Given the description of an element on the screen output the (x, y) to click on. 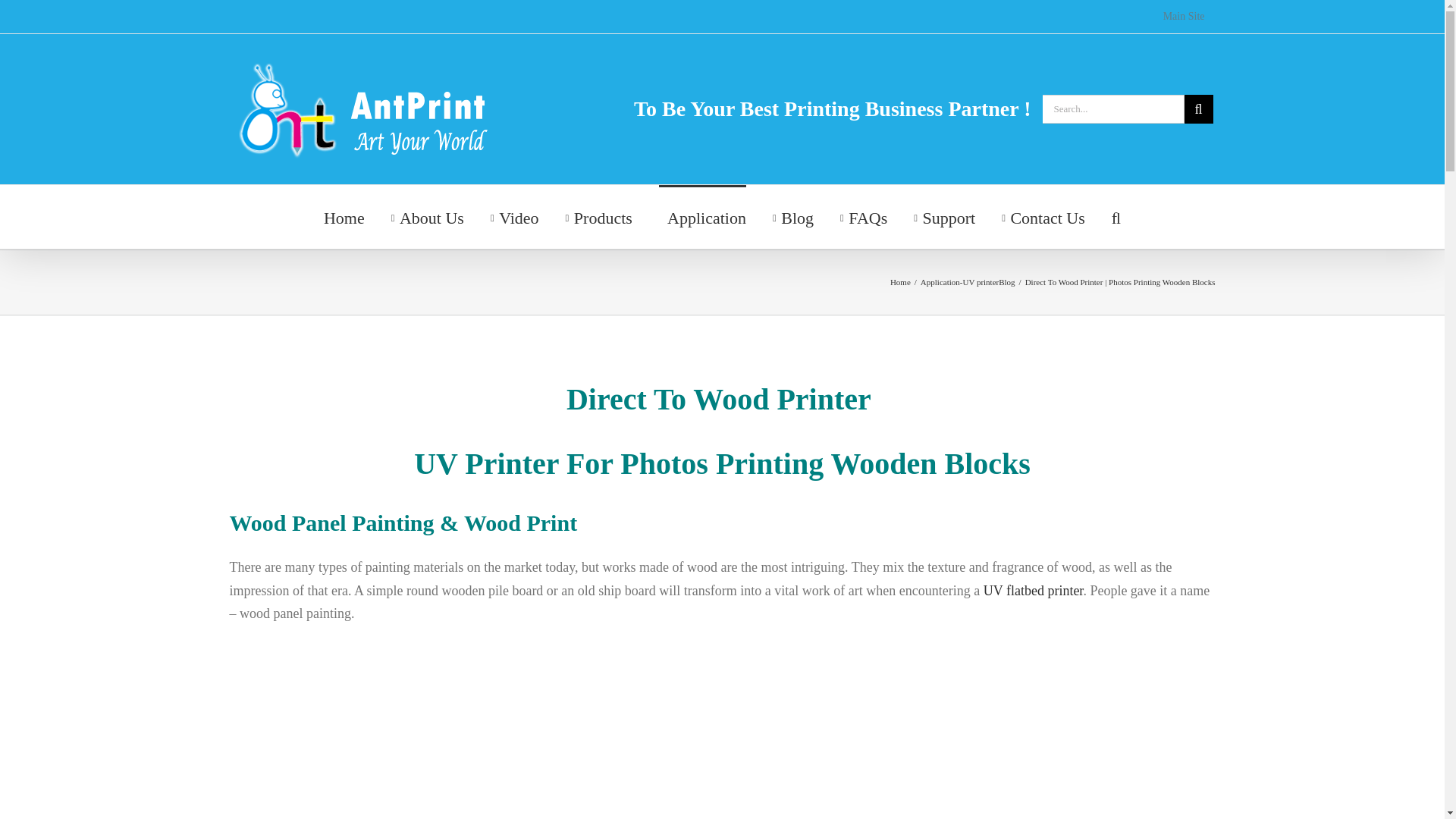
Products (598, 216)
About Us (427, 216)
Main Site (1183, 16)
